Given the description of an element on the screen output the (x, y) to click on. 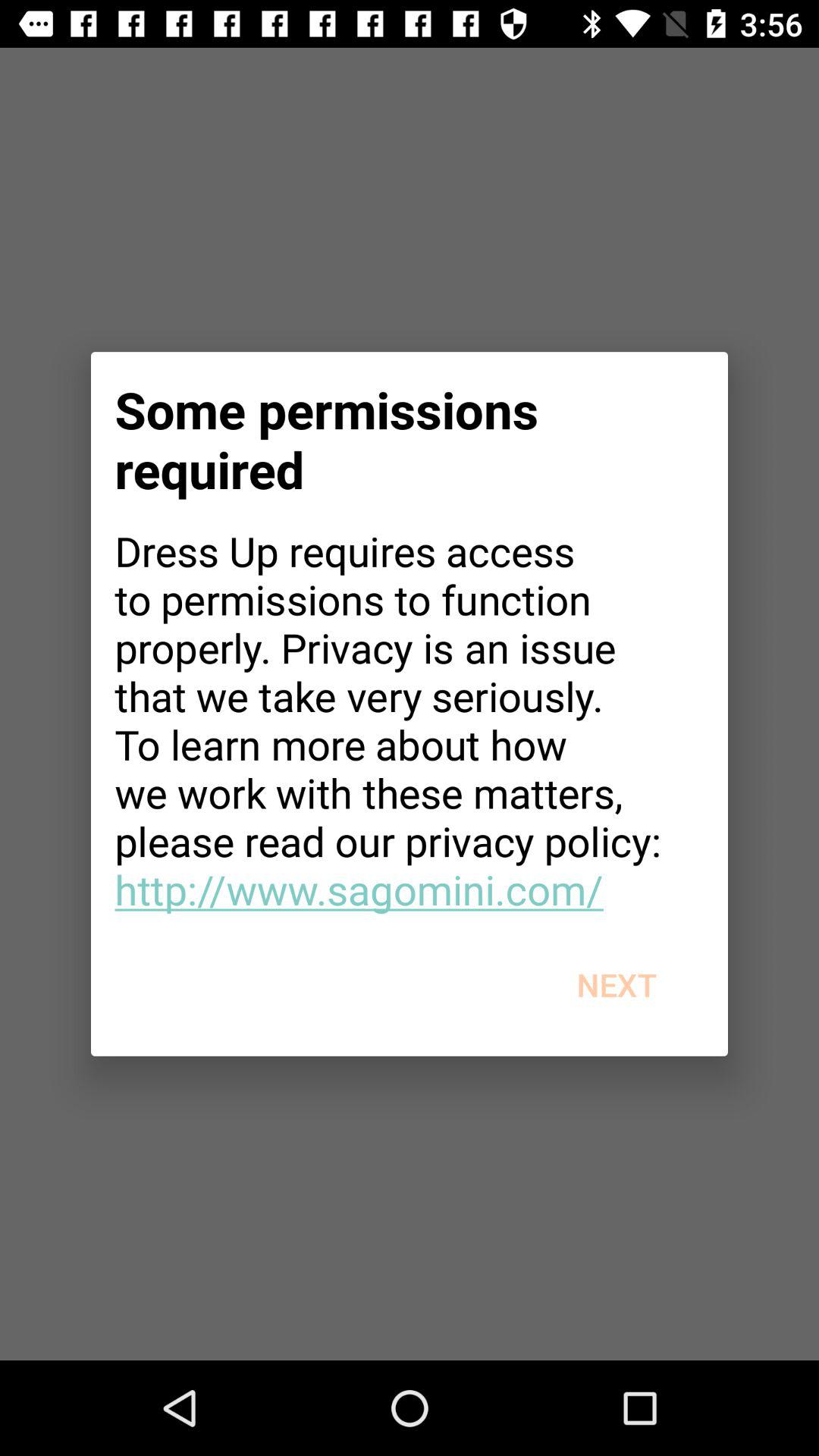
choose next icon (616, 984)
